Given the description of an element on the screen output the (x, y) to click on. 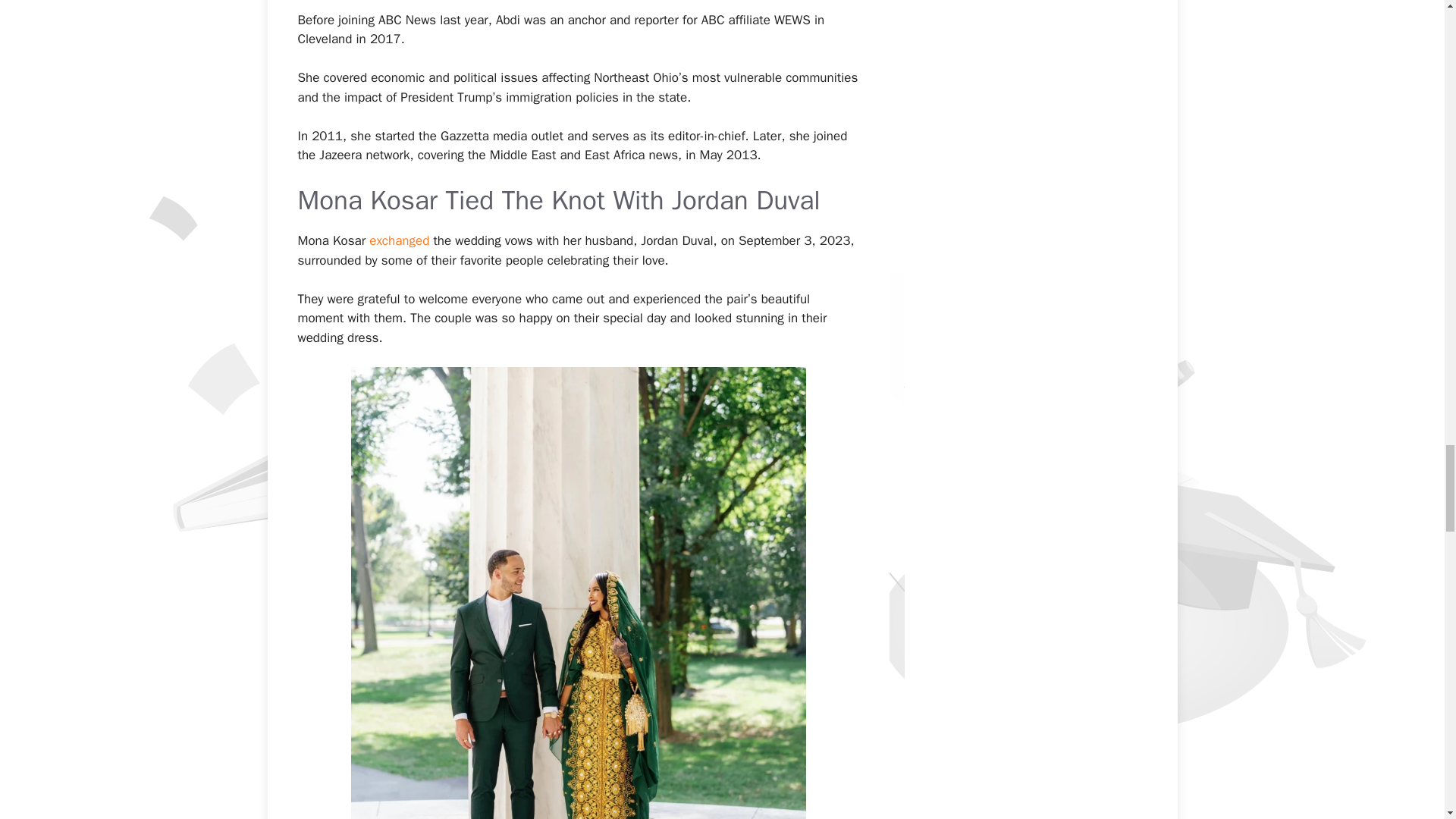
exchanged (399, 240)
